Given the description of an element on the screen output the (x, y) to click on. 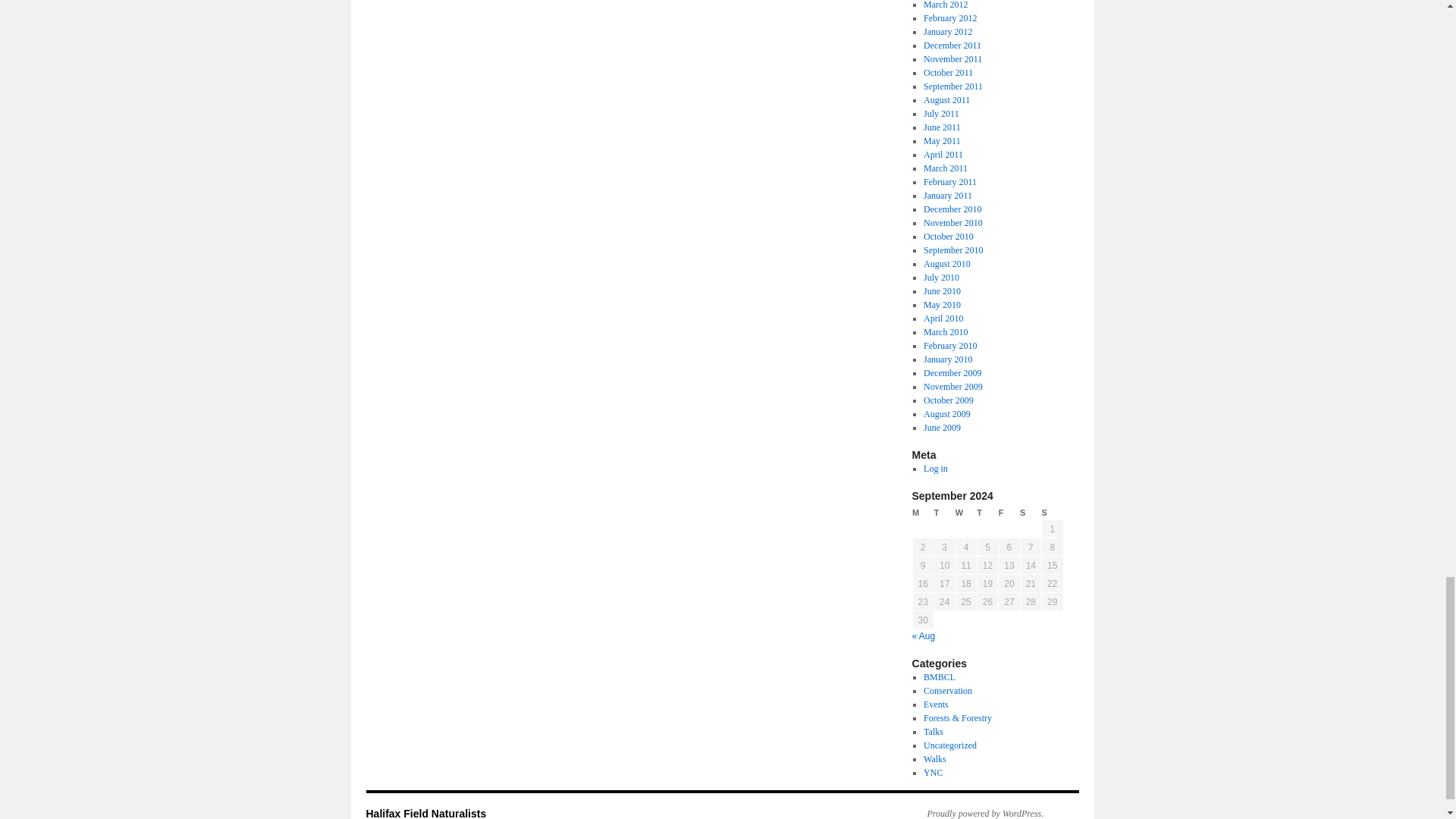
Wednesday (965, 513)
Sunday (1052, 513)
Saturday (1030, 513)
Friday (1009, 513)
Tuesday (944, 513)
Thursday (986, 513)
Monday (922, 513)
